Given the description of an element on the screen output the (x, y) to click on. 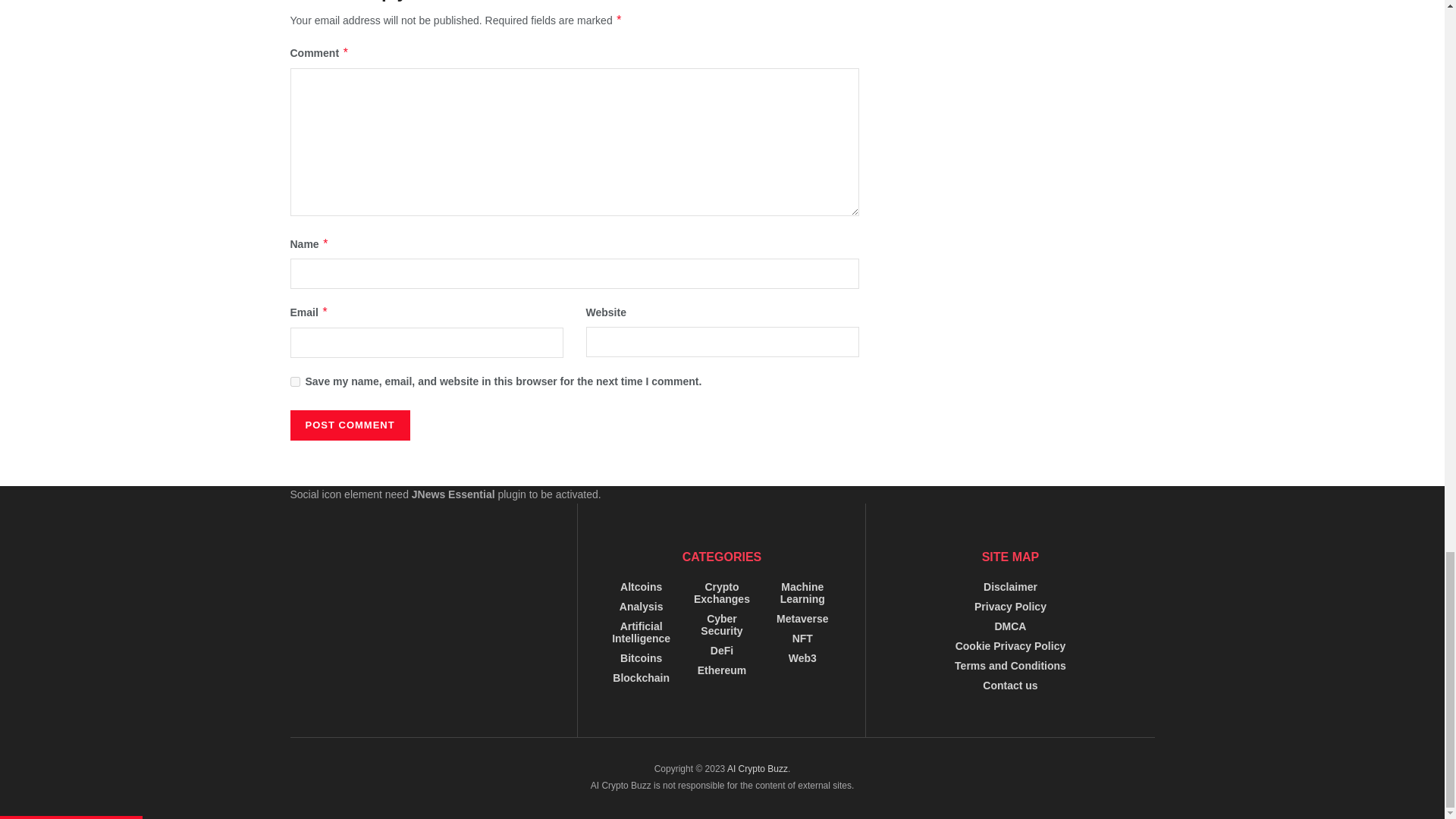
Post Comment (349, 425)
yes (294, 381)
AI Crypto Buzz (756, 768)
